Given the description of an element on the screen output the (x, y) to click on. 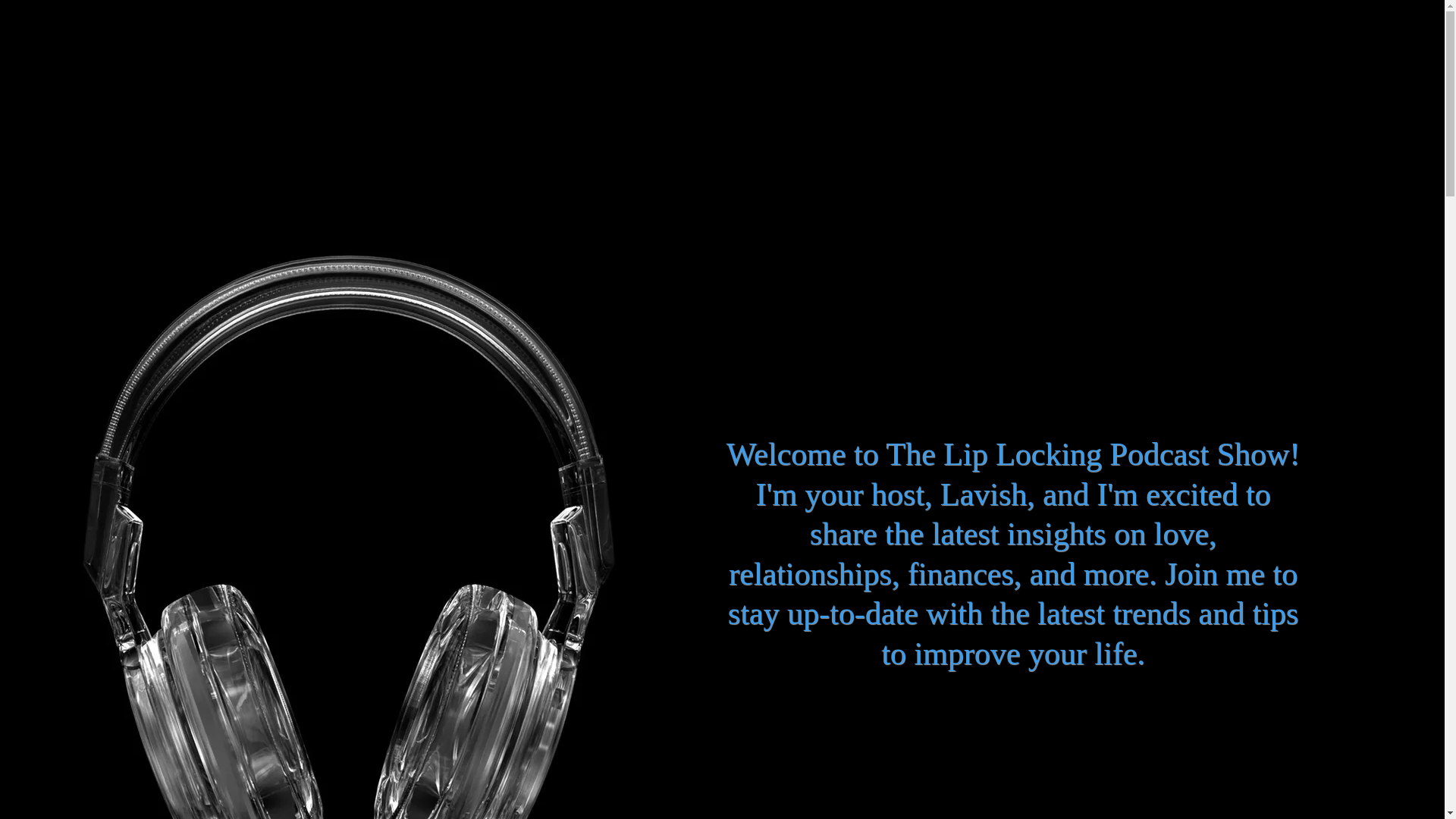
The Lip Locking Podcast Show (42, 51)
